Given the description of an element on the screen output the (x, y) to click on. 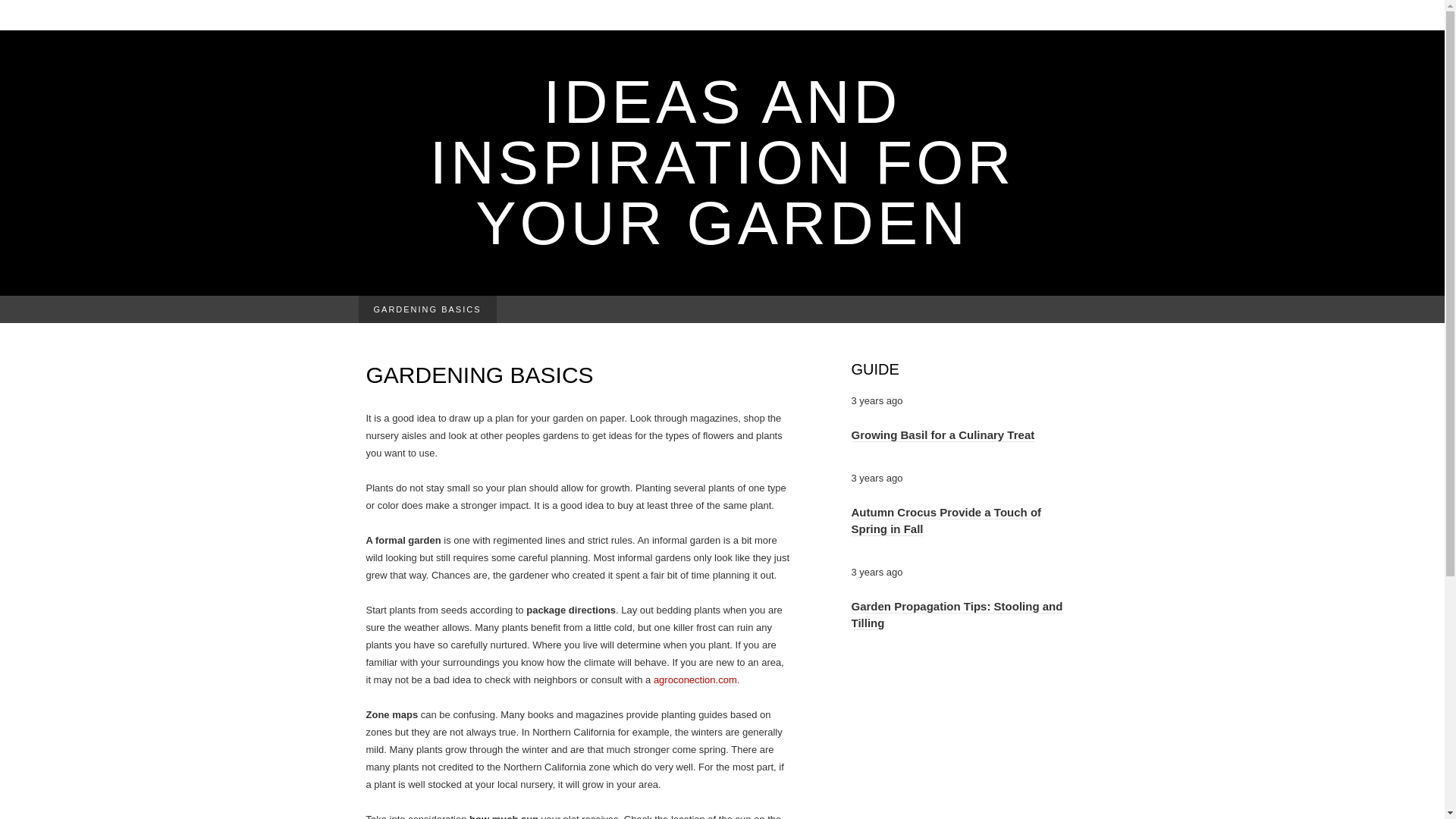
Growing Basil for a Culinary Treat (941, 435)
IDEAS AND INSPIRATION FOR YOUR GARDEN (721, 162)
Autumn Crocus Provide a Touch of Spring in Fall (945, 520)
Growing Basil for a Culinary Treat (941, 435)
Garden Propagation Tips: Stooling and Tilling (956, 613)
Ideas and Inspiration for Your Garden (721, 162)
Garden Propagation Tips: Stooling and Tilling (956, 613)
agroconection.com (694, 680)
Search (16, 12)
GARDENING BASICS (427, 308)
